Given the description of an element on the screen output the (x, y) to click on. 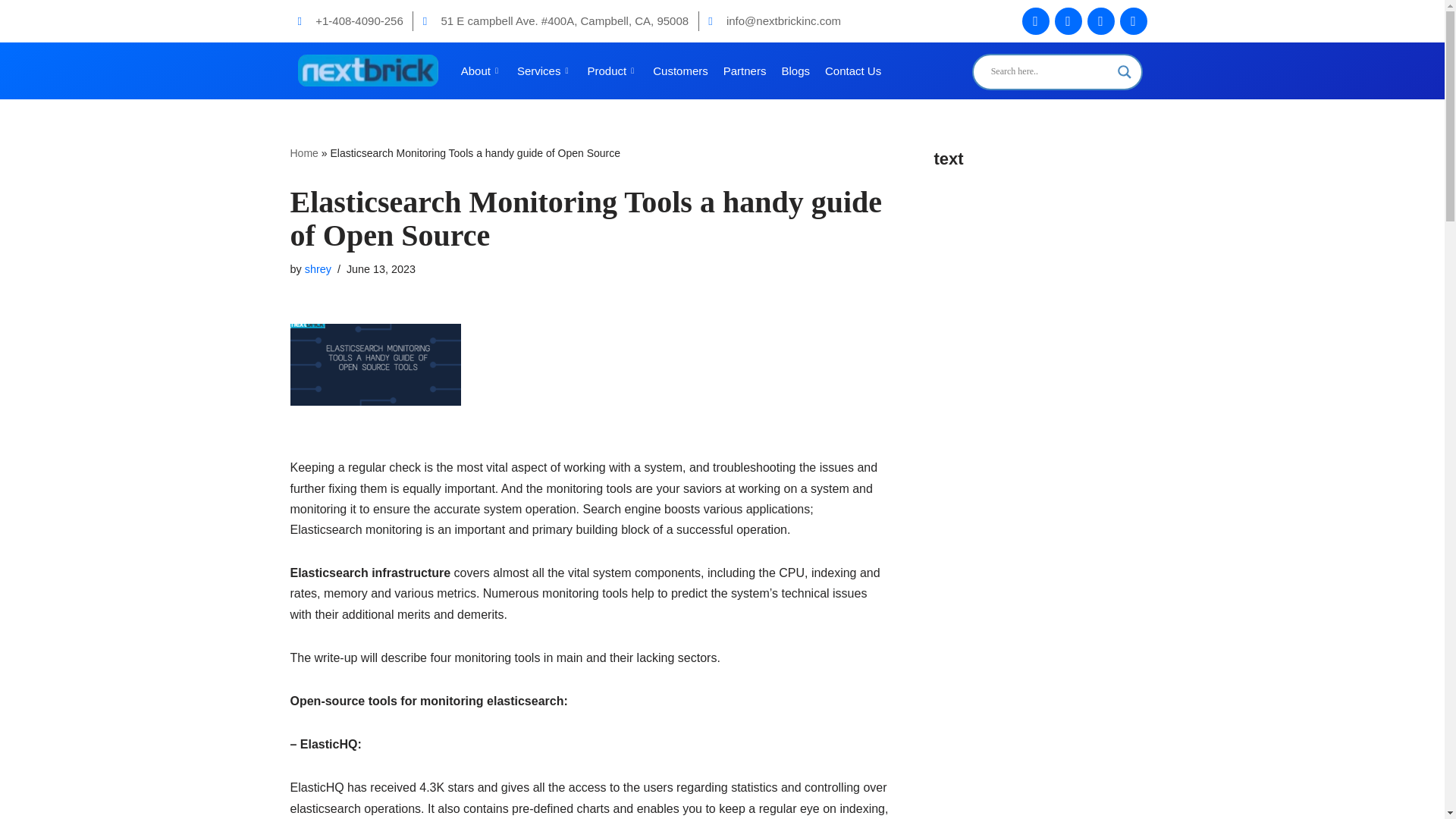
Skip to content (11, 31)
Services (544, 70)
Posts by shrey (317, 268)
About (480, 70)
